Given the description of an element on the screen output the (x, y) to click on. 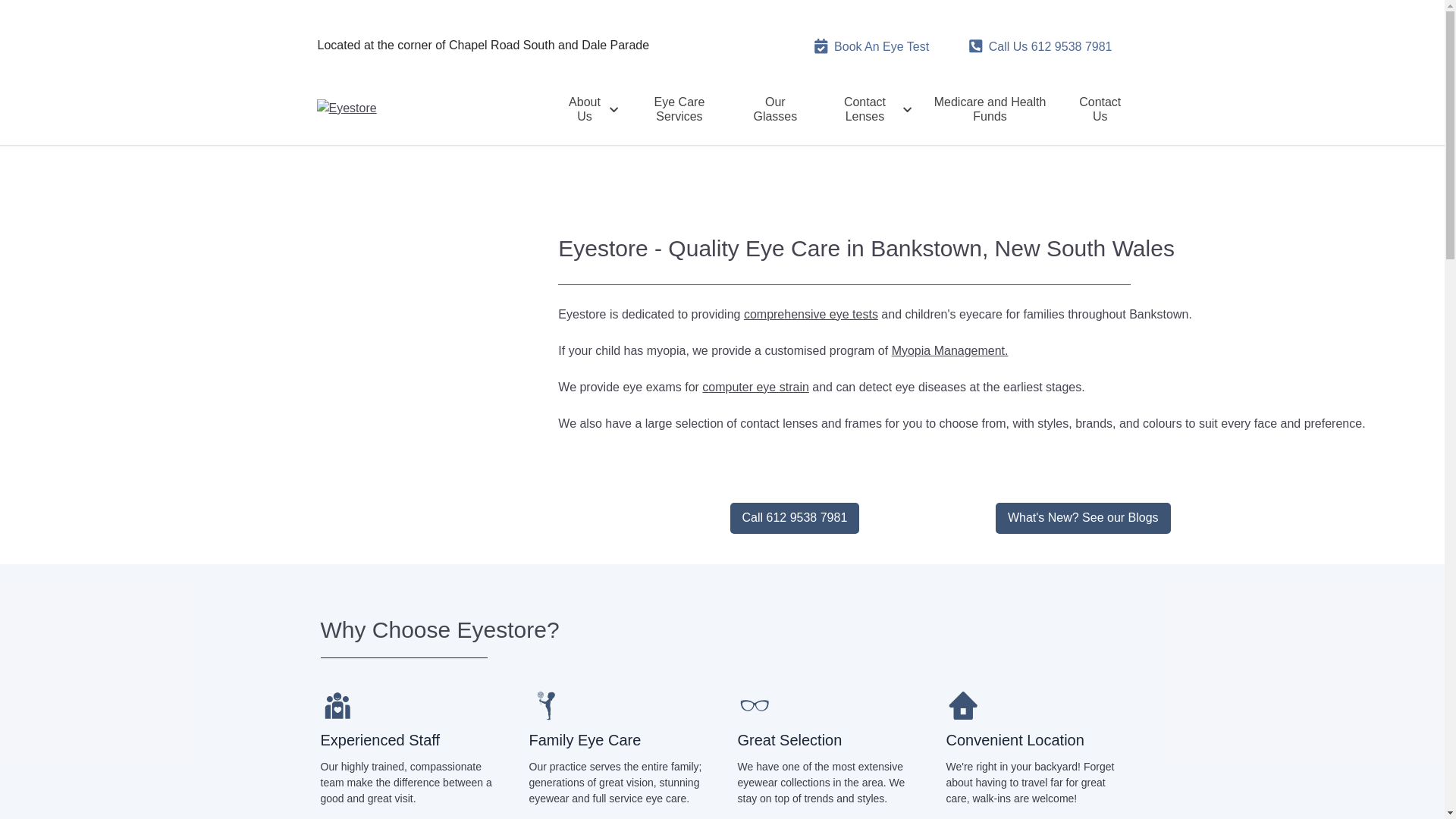
Family Eye Care Element type: text (585, 739)
computer eye strain Element type: text (755, 386)
Medicare and Health Funds Element type: text (989, 109)
Convenient Location Element type: text (1015, 739)
Call Us 612 9538 7981 Element type: text (1039, 47)
What's New? See our Blogs Element type: text (1082, 518)
Great Selection Element type: text (789, 739)
Our Glasses Element type: text (775, 109)
Experienced Staff Element type: text (379, 739)
Eye Care Services Element type: text (679, 109)
Book An Eye Test Element type: text (871, 47)
About Us Element type: text (587, 109)
Contact Us Element type: text (1099, 109)
Myopia Management. Element type: text (949, 350)
comprehensive eye tests Element type: text (810, 313)
Located at the corner of Chapel Road South and Dale Parade Element type: text (482, 46)
Contact Lenses Element type: text (868, 109)
Call 612 9538 7981 Element type: text (794, 518)
